Given the description of an element on the screen output the (x, y) to click on. 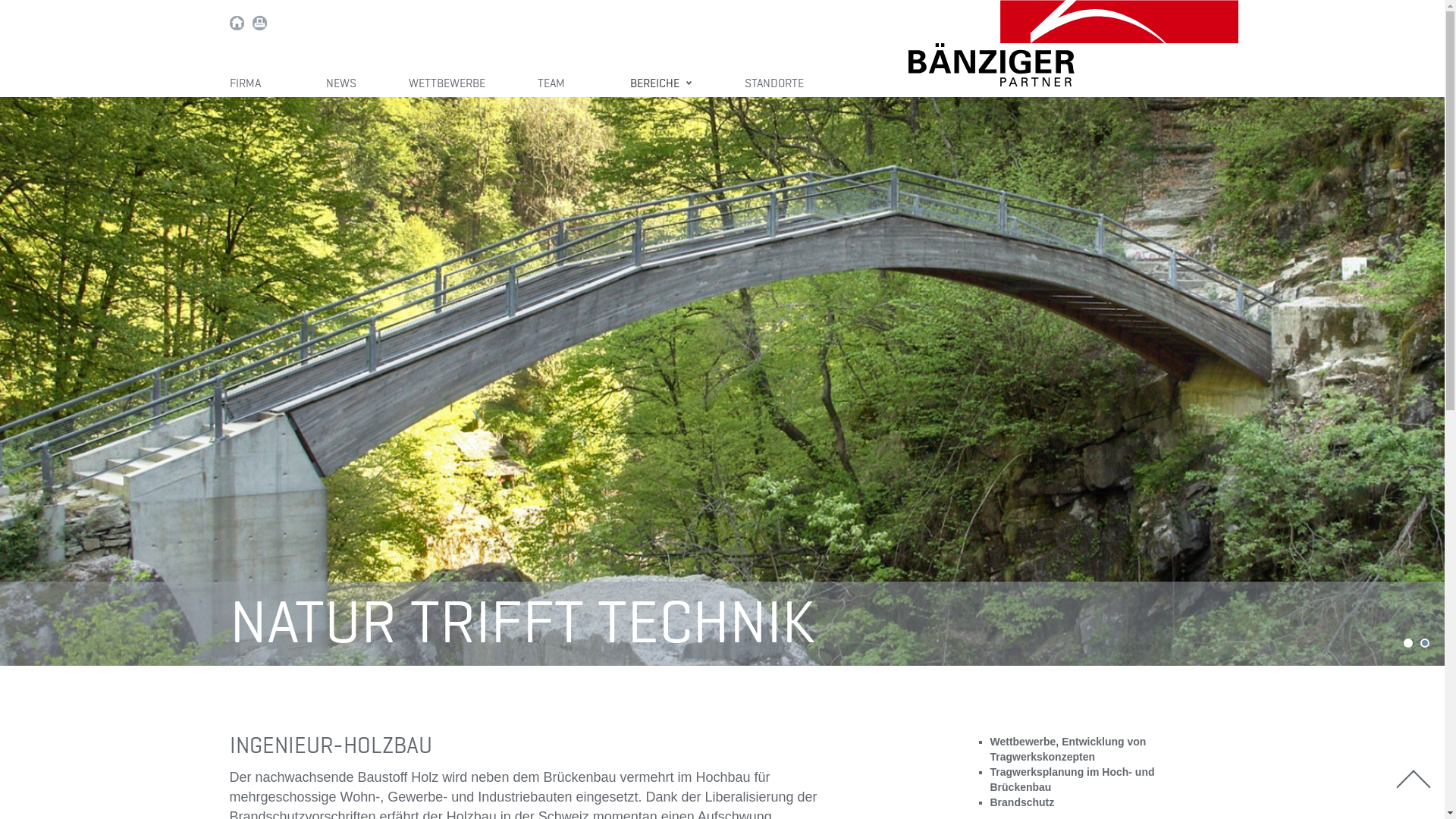
NEWS Element type: text (341, 84)
FIRMA Element type: text (251, 84)
BEREICHE Element type: text (660, 84)
WETTBEWERBE Element type: text (445, 84)
2 Element type: text (1424, 642)
TEAM Element type: text (556, 84)
Print Element type: text (258, 24)
STANDORTE Element type: text (773, 84)
1 Element type: text (1407, 642)
Home Element type: text (236, 24)
